Given the description of an element on the screen output the (x, y) to click on. 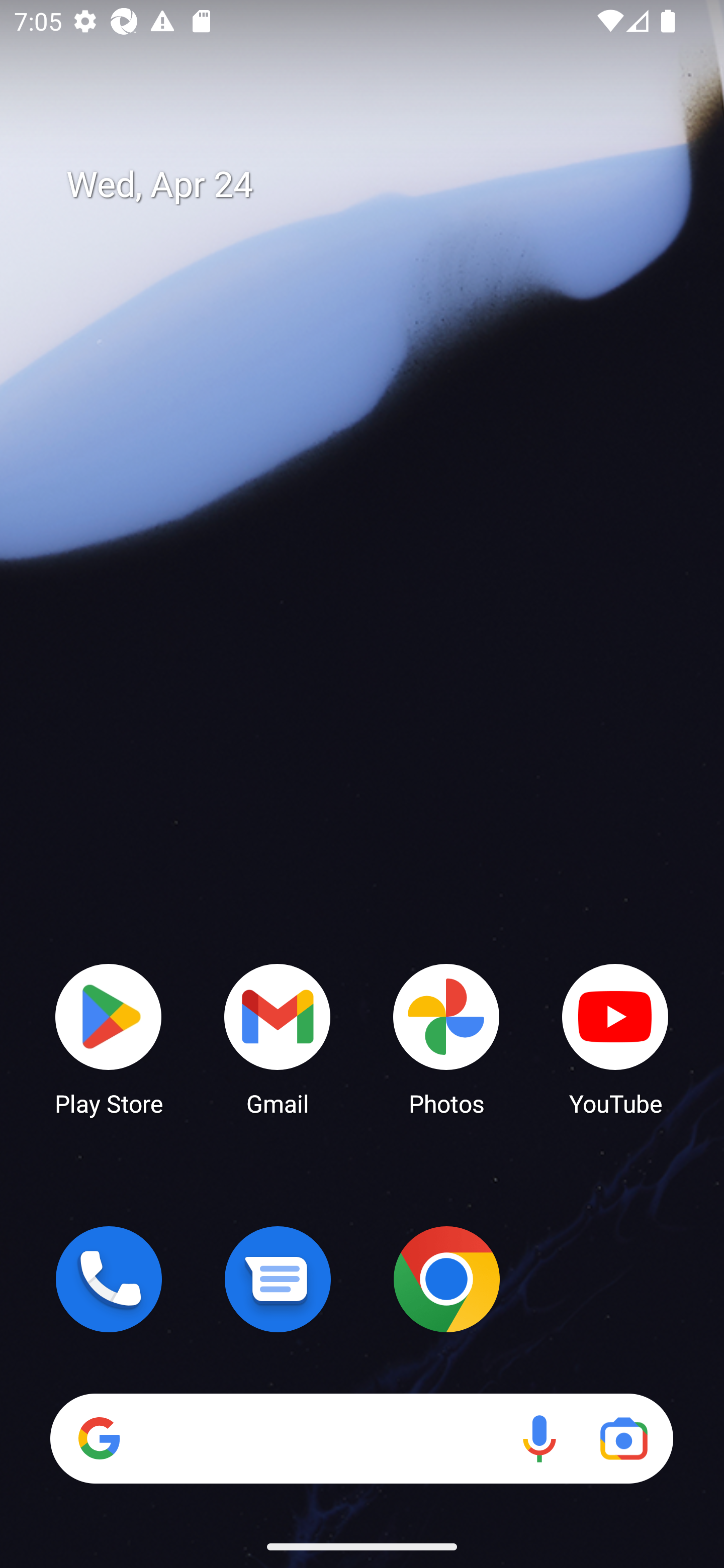
Wed, Apr 24 (375, 184)
Play Store (108, 1038)
Gmail (277, 1038)
Photos (445, 1038)
YouTube (615, 1038)
Phone (108, 1279)
Messages (277, 1279)
Chrome (446, 1279)
Search Voice search Google Lens (361, 1438)
Voice search (539, 1438)
Google Lens (623, 1438)
